Given the description of an element on the screen output the (x, y) to click on. 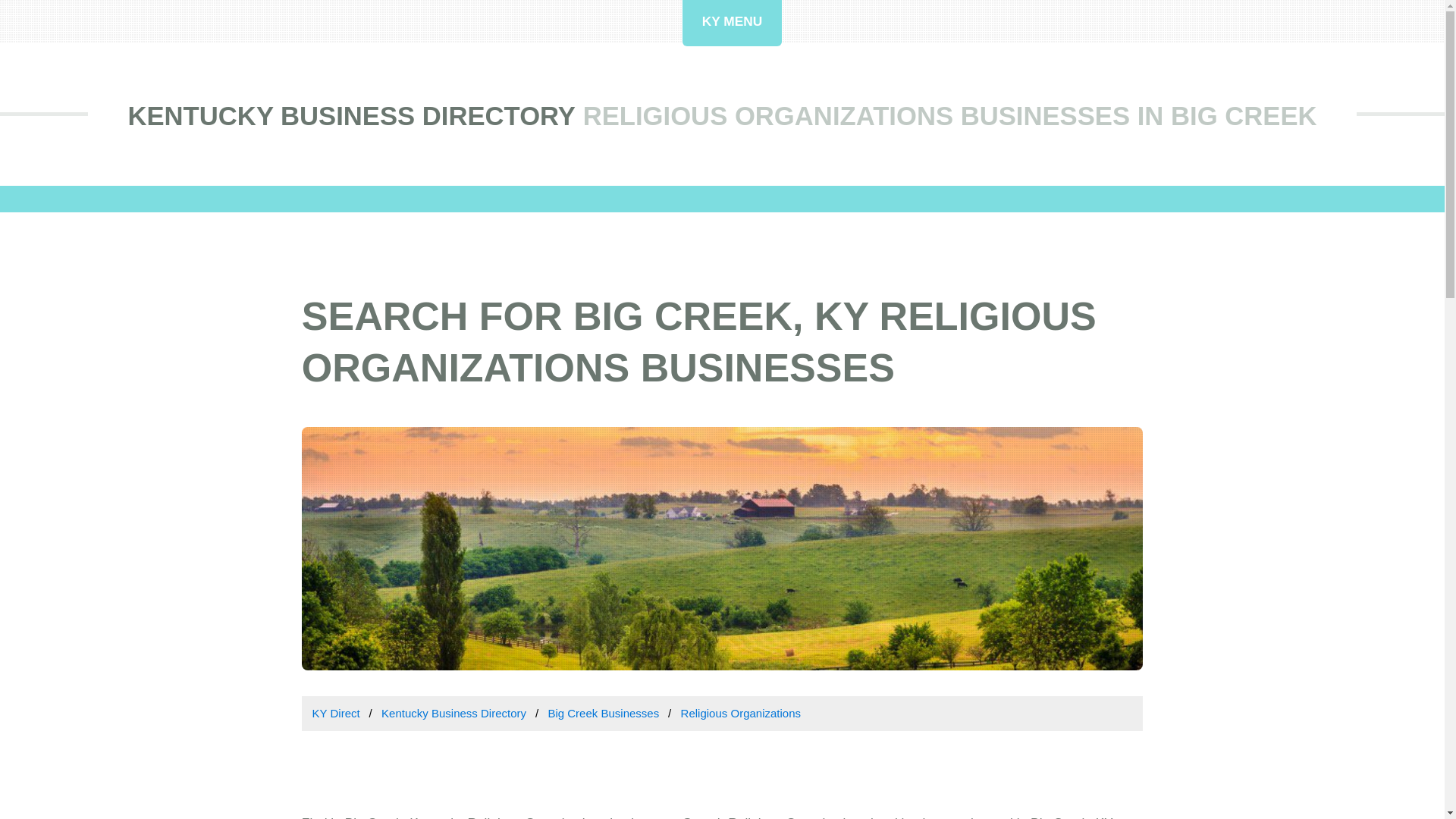
Religious Organizations (740, 712)
KENTUCKY BUSINESS DIRECTORY (351, 115)
KY MENU (732, 22)
Big Creek Businesses (603, 712)
KY Direct (336, 712)
Kentucky Business Directory (453, 712)
